Given the description of an element on the screen output the (x, y) to click on. 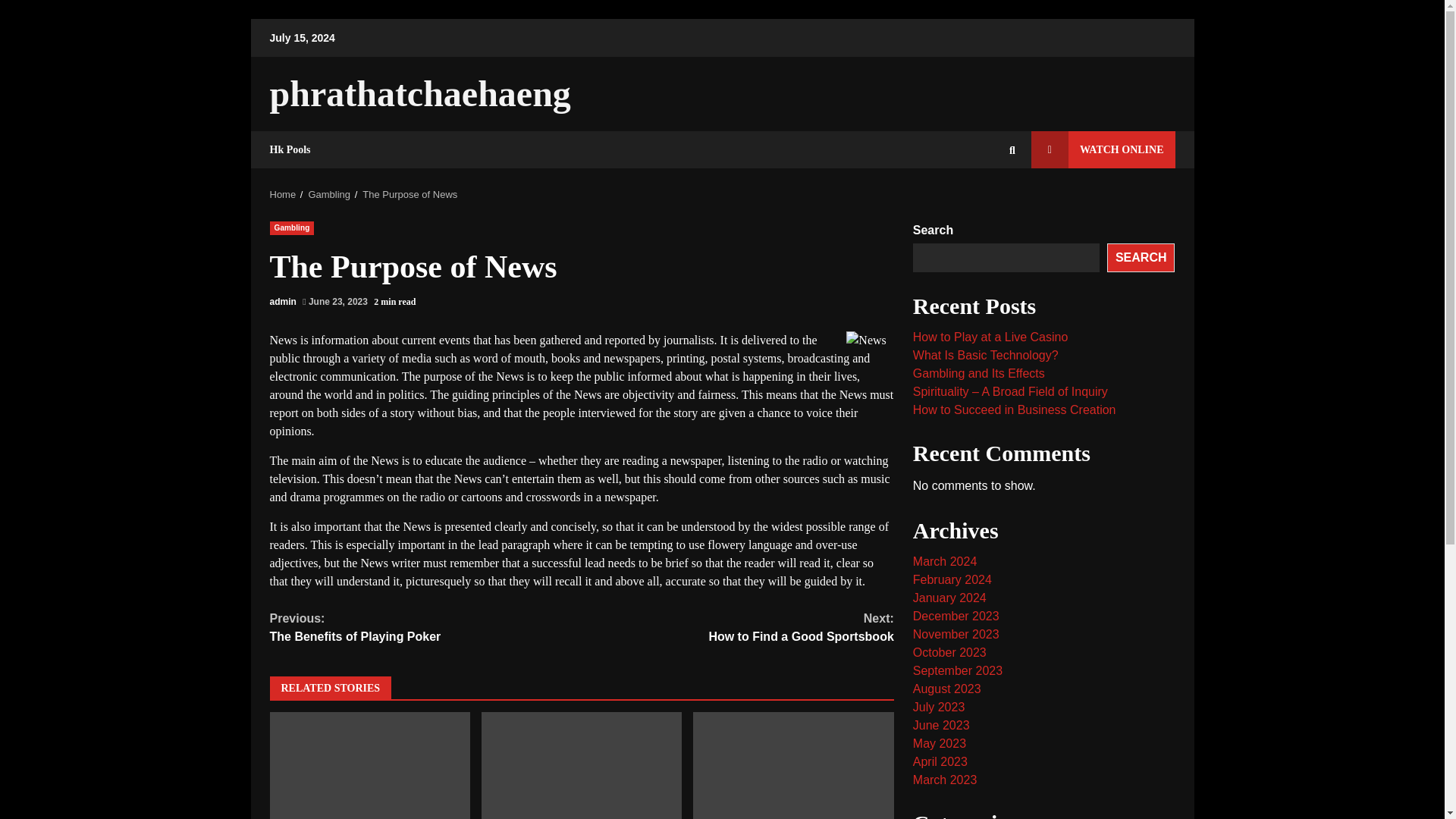
The Purpose of News (425, 627)
June 2023 (409, 194)
Home (940, 725)
January 2024 (283, 194)
Search (949, 597)
May 2023 (984, 201)
WATCH ONLINE (939, 743)
August 2023 (1102, 149)
Hk Pools (946, 688)
December 2023 (290, 149)
September 2023 (955, 615)
How to Play at a Live Casino (957, 670)
What Is Basic Technology? (369, 765)
admin (581, 765)
